Given the description of an element on the screen output the (x, y) to click on. 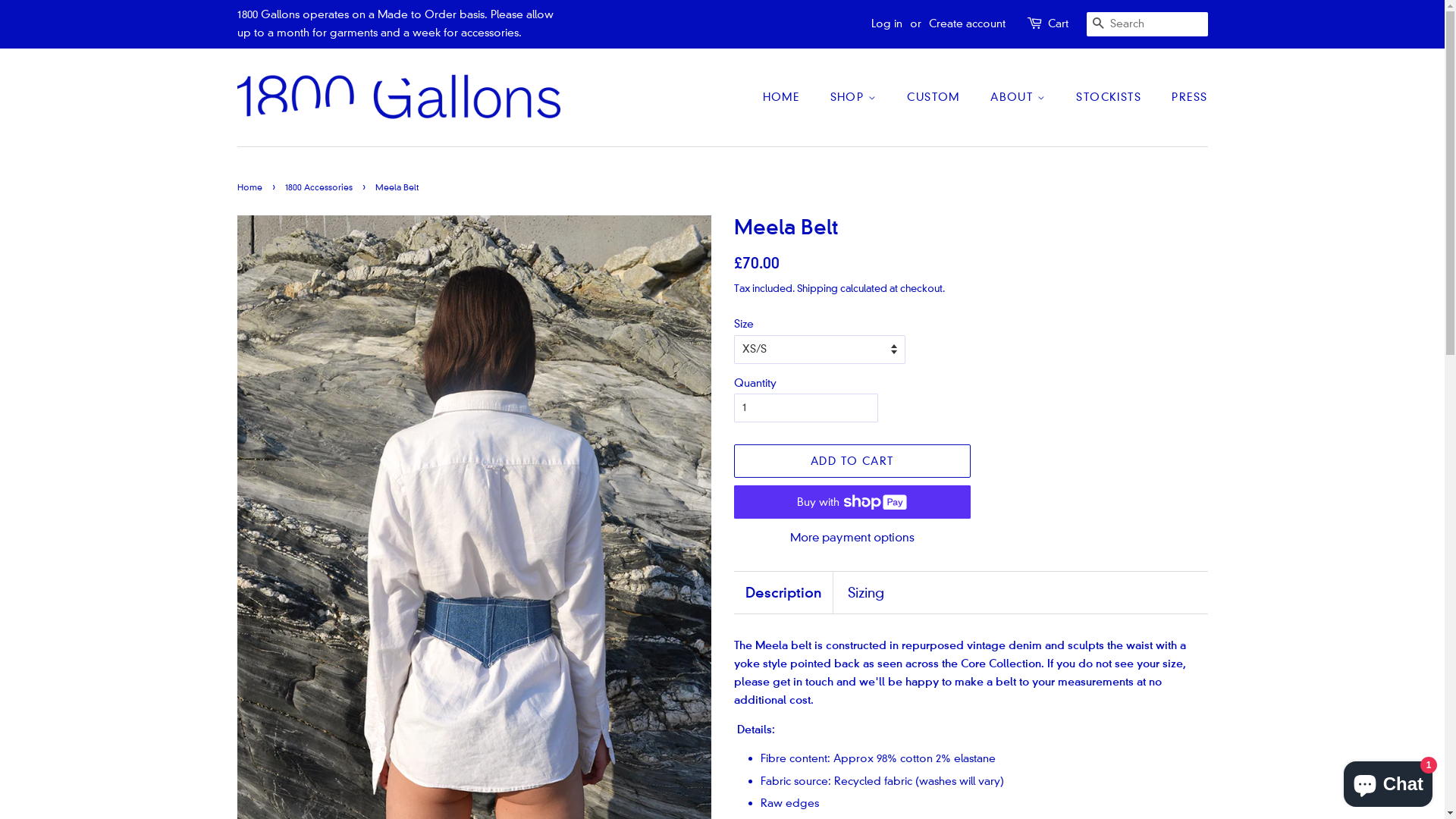
Log in Element type: text (885, 23)
STOCKISTS Element type: text (1110, 97)
SHOP Element type: text (855, 97)
PRESS Element type: text (1183, 97)
Shipping Element type: text (816, 288)
Home Element type: text (250, 187)
HOME Element type: text (788, 97)
ADD TO CART Element type: text (852, 460)
1800 Accessories Element type: text (320, 187)
CUSTOM Element type: text (934, 97)
Sizing Element type: text (865, 592)
ABOUT Element type: text (1019, 97)
Cart Element type: text (1058, 24)
Description Element type: text (782, 592)
Shopify online store chat Element type: hover (1388, 780)
Create account Element type: text (966, 23)
SEARCH Element type: text (1097, 24)
More payment options Element type: text (852, 537)
